Given the description of an element on the screen output the (x, y) to click on. 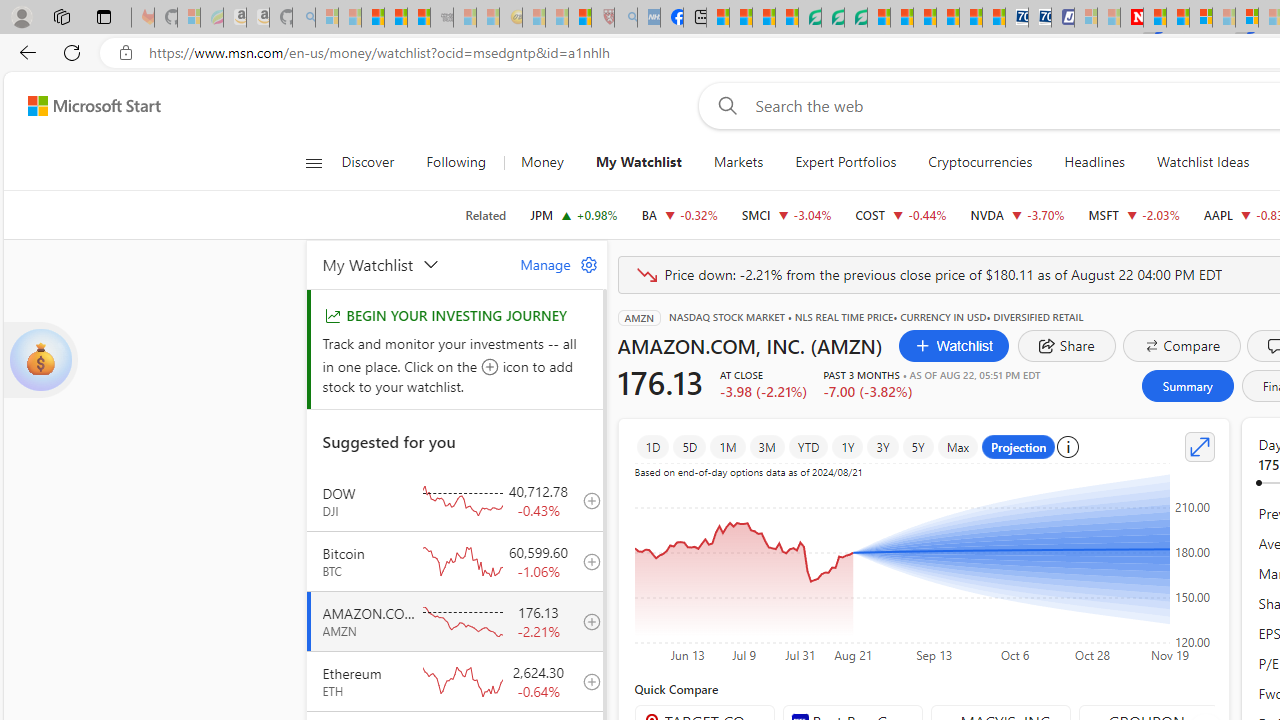
5D (689, 446)
Expert Portfolios (845, 162)
share dialog (1066, 345)
Microsoft Word - consumer-privacy address update 2.2021 (855, 17)
Max (957, 446)
Headlines (1094, 162)
